Given the description of an element on the screen output the (x, y) to click on. 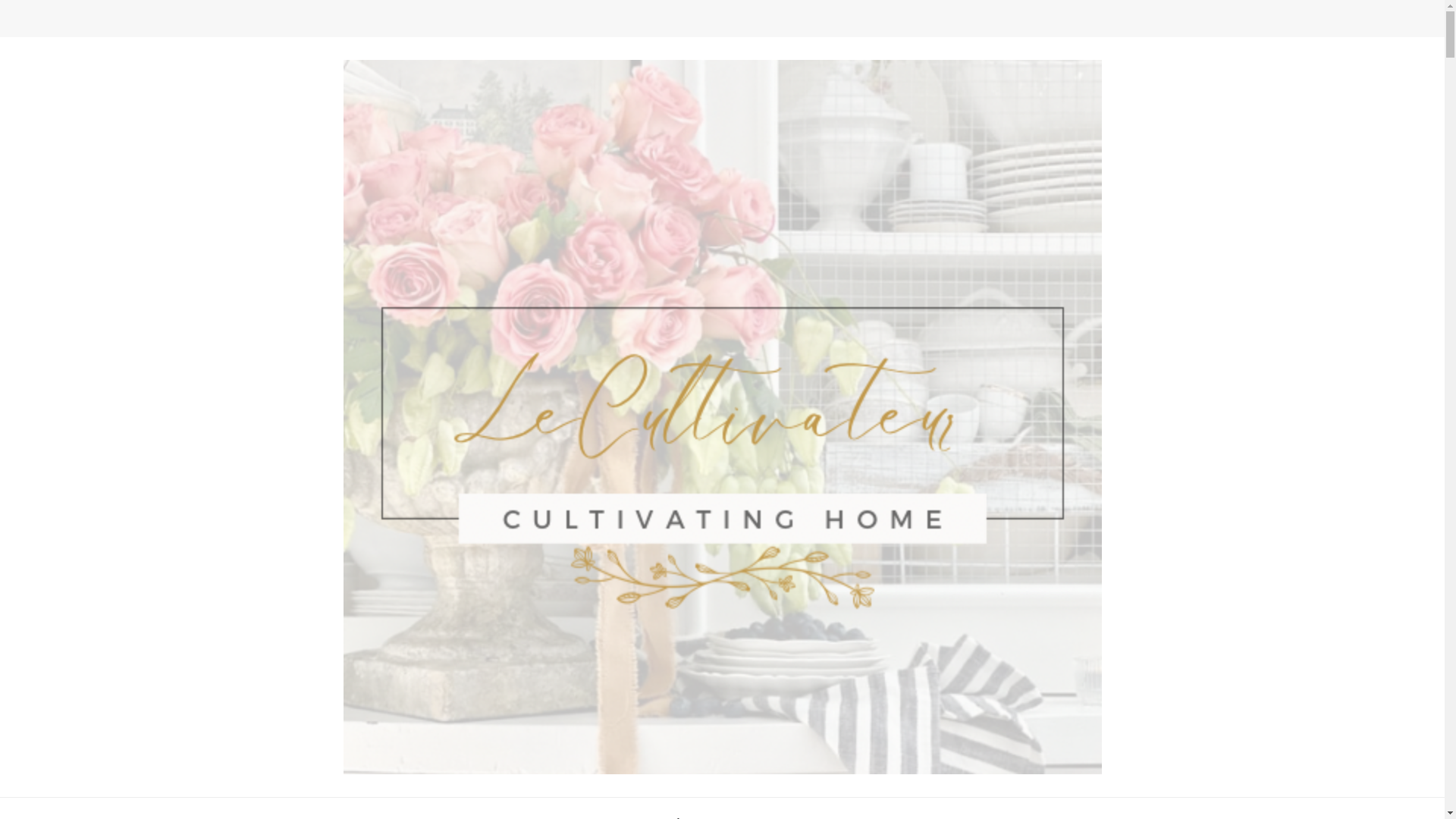
LeCultivateur (324, 787)
Search (1148, 22)
Home (747, 808)
As Seen In (822, 808)
About (683, 808)
Contact (614, 808)
